Given the description of an element on the screen output the (x, y) to click on. 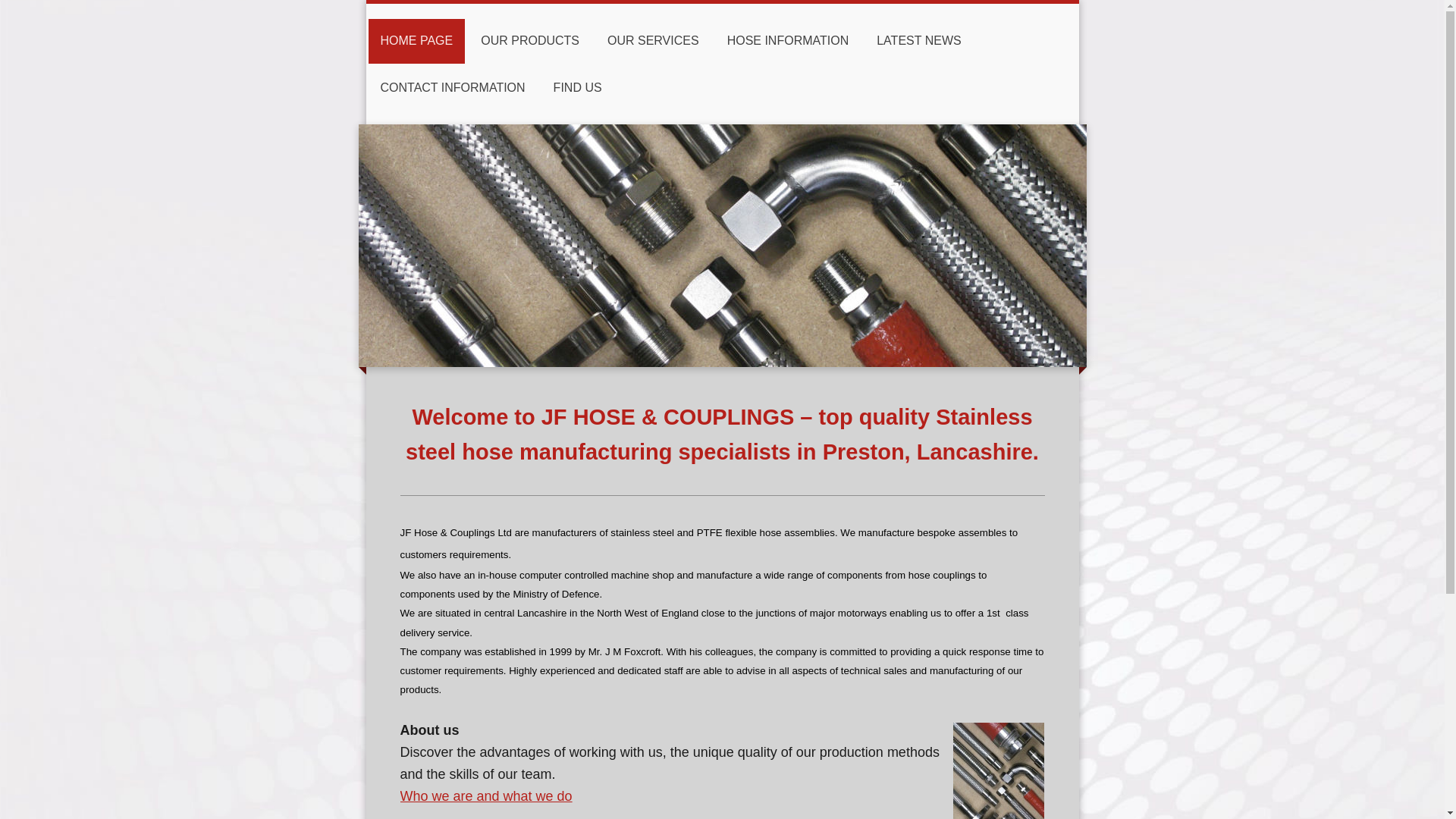
HOME PAGE (416, 40)
FIND US (577, 88)
CONTACT INFORMATION (452, 88)
HOSE INFORMATION (787, 40)
OUR PRODUCTS (529, 40)
Who we are and what we do (486, 795)
LATEST NEWS (918, 40)
OUR SERVICES (653, 40)
